Given the description of an element on the screen output the (x, y) to click on. 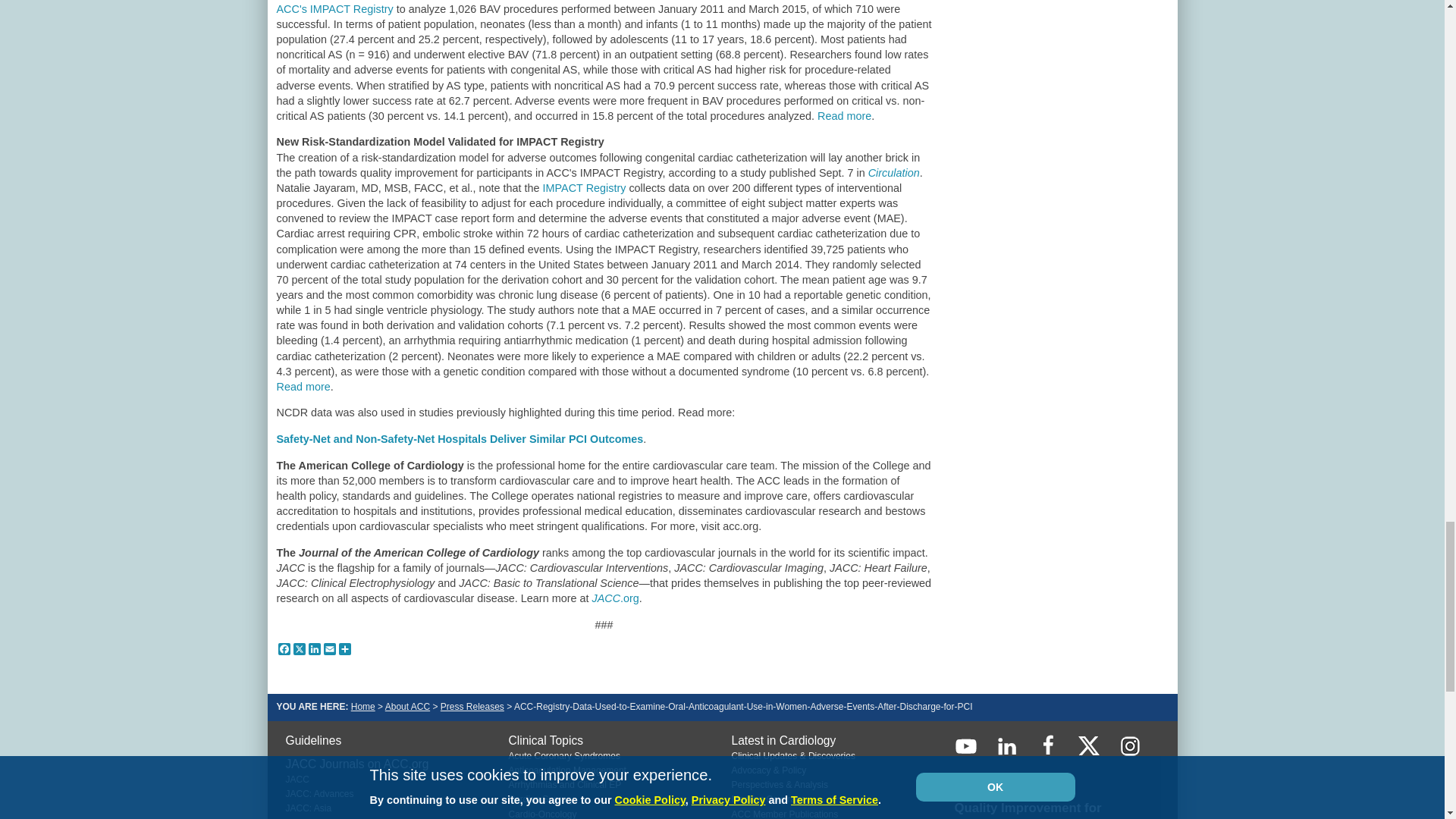
Guidelines (312, 739)
JACC: Advances (319, 793)
JACC Asia (308, 808)
